Given the description of an element on the screen output the (x, y) to click on. 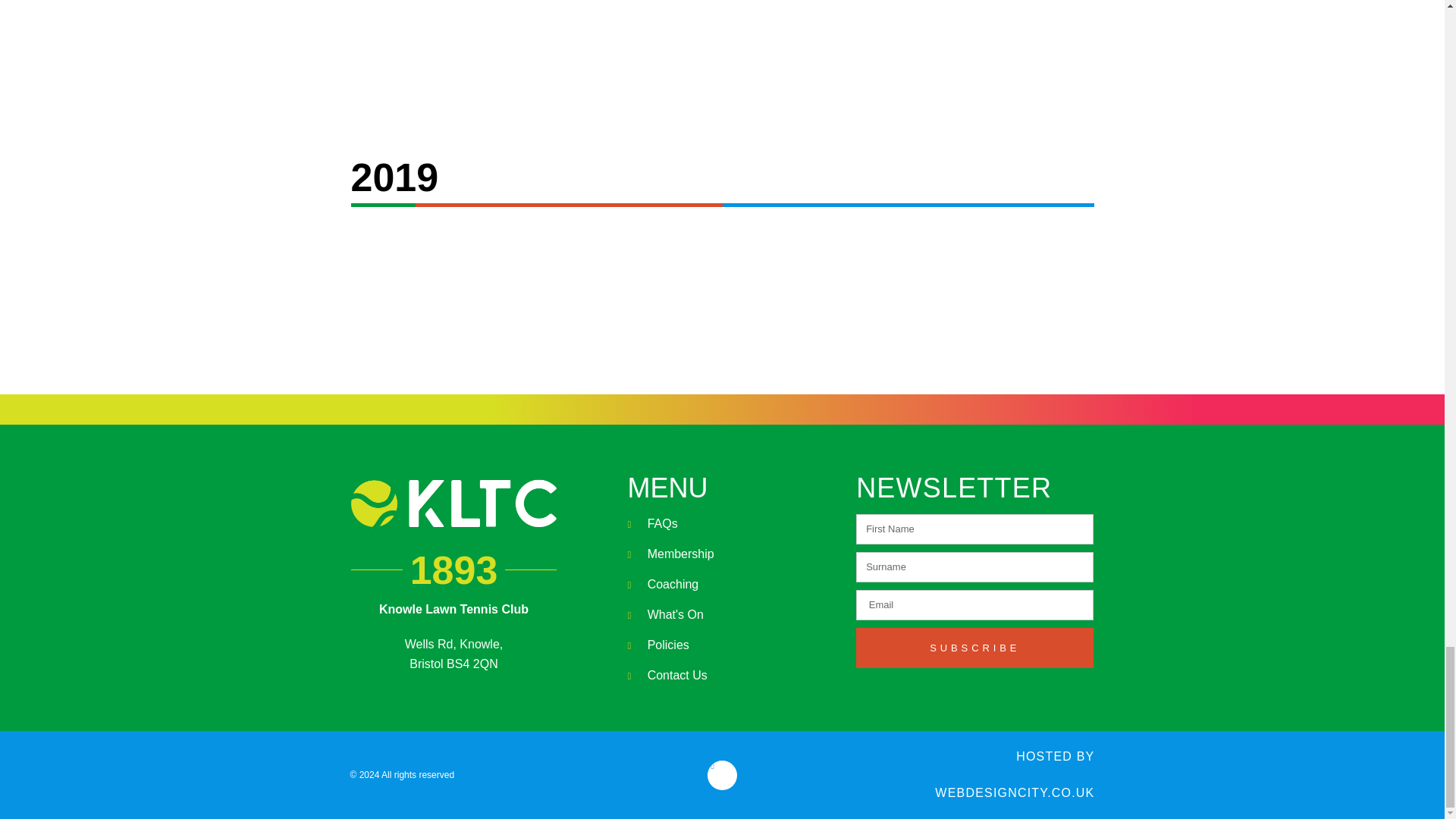
Policies (734, 645)
Contact Us (734, 675)
What's On (734, 614)
SUBSCRIBE (974, 648)
MENU (667, 487)
Membership (734, 554)
FAQs (734, 523)
Coaching (734, 584)
